Given the description of an element on the screen output the (x, y) to click on. 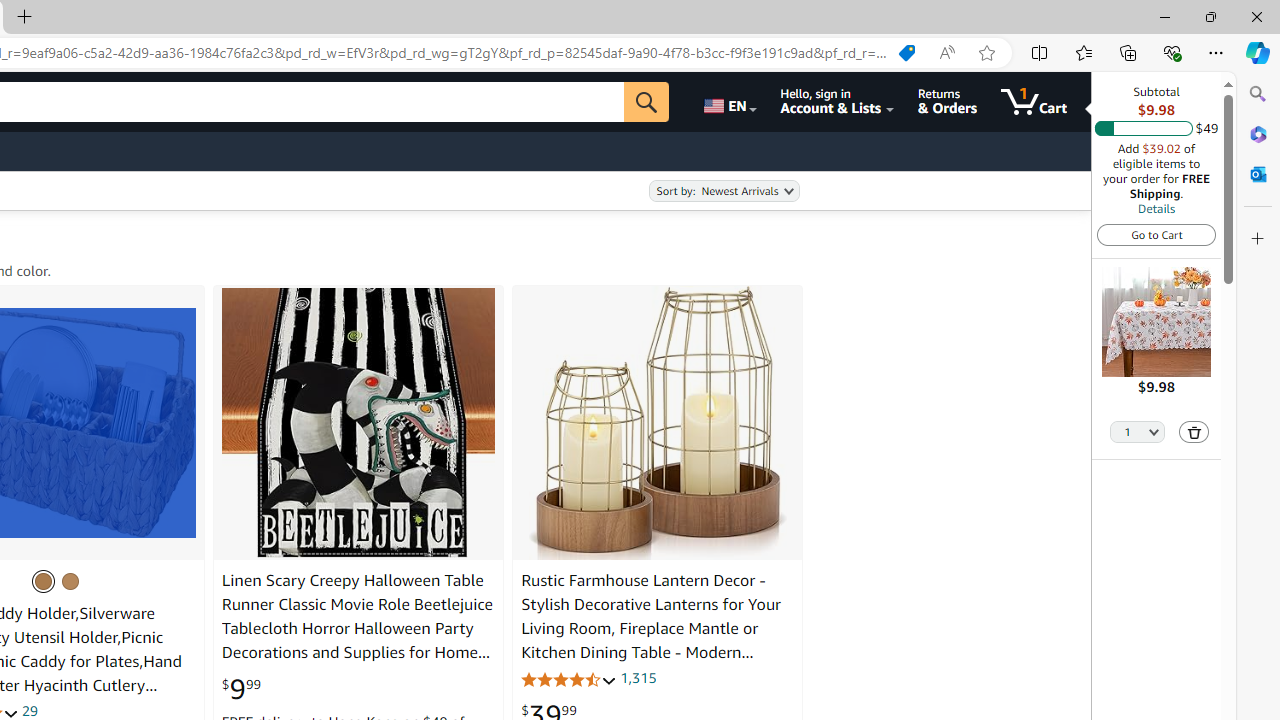
Quantity Selector (1137, 430)
1,315 (637, 678)
Go to Cart (1156, 234)
Natural (70, 580)
$9.99 (241, 689)
Go (646, 101)
Sort by: (723, 191)
4.3 out of 5 stars (569, 678)
